Given the description of an element on the screen output the (x, y) to click on. 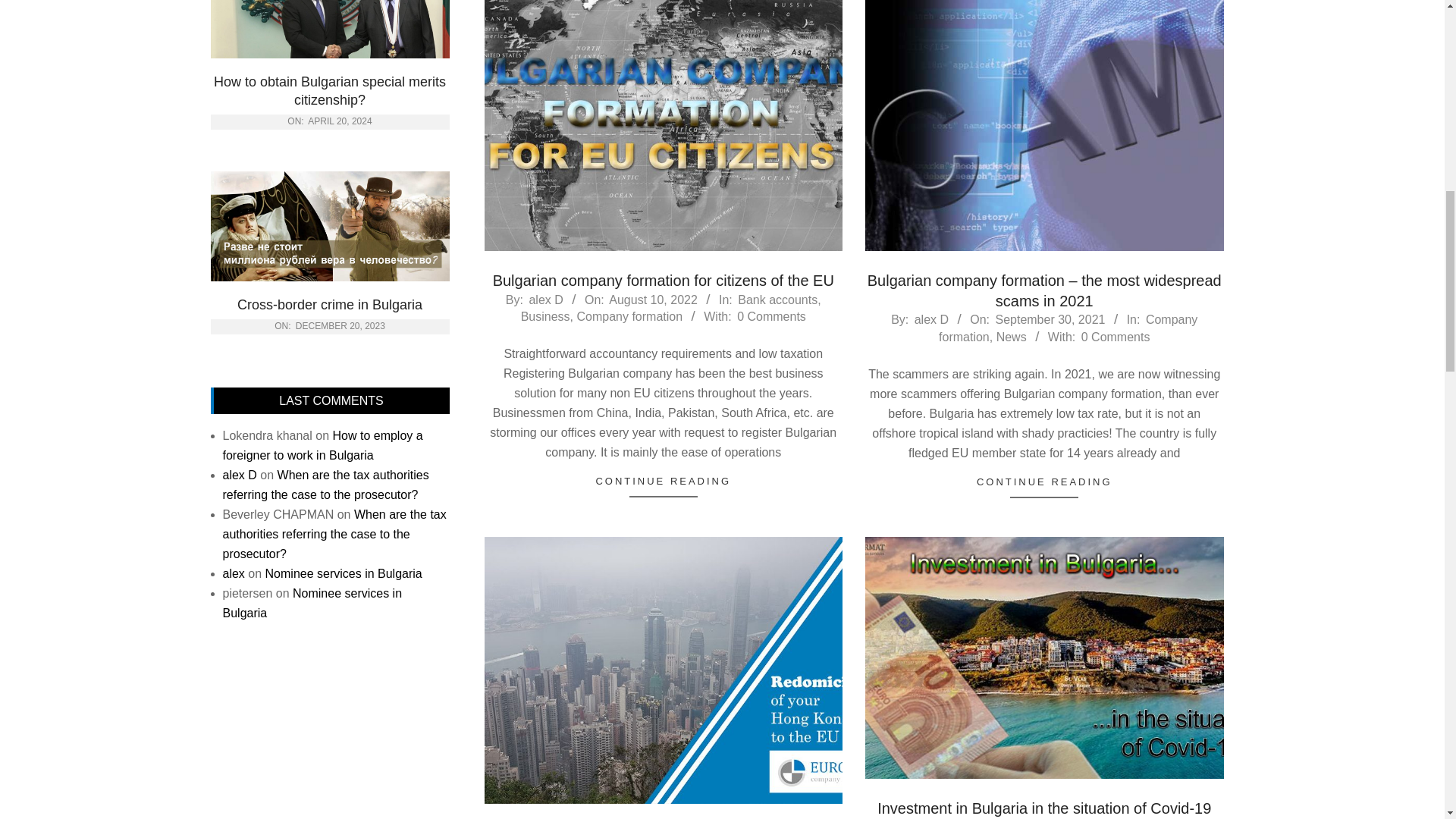
Thursday, September 30, 2021, 8:03 pm (1049, 318)
Posts by alex D (545, 299)
Posts by alex D (931, 318)
Wednesday, August 10, 2022, 7:28 am (652, 299)
